Given the description of an element on the screen output the (x, y) to click on. 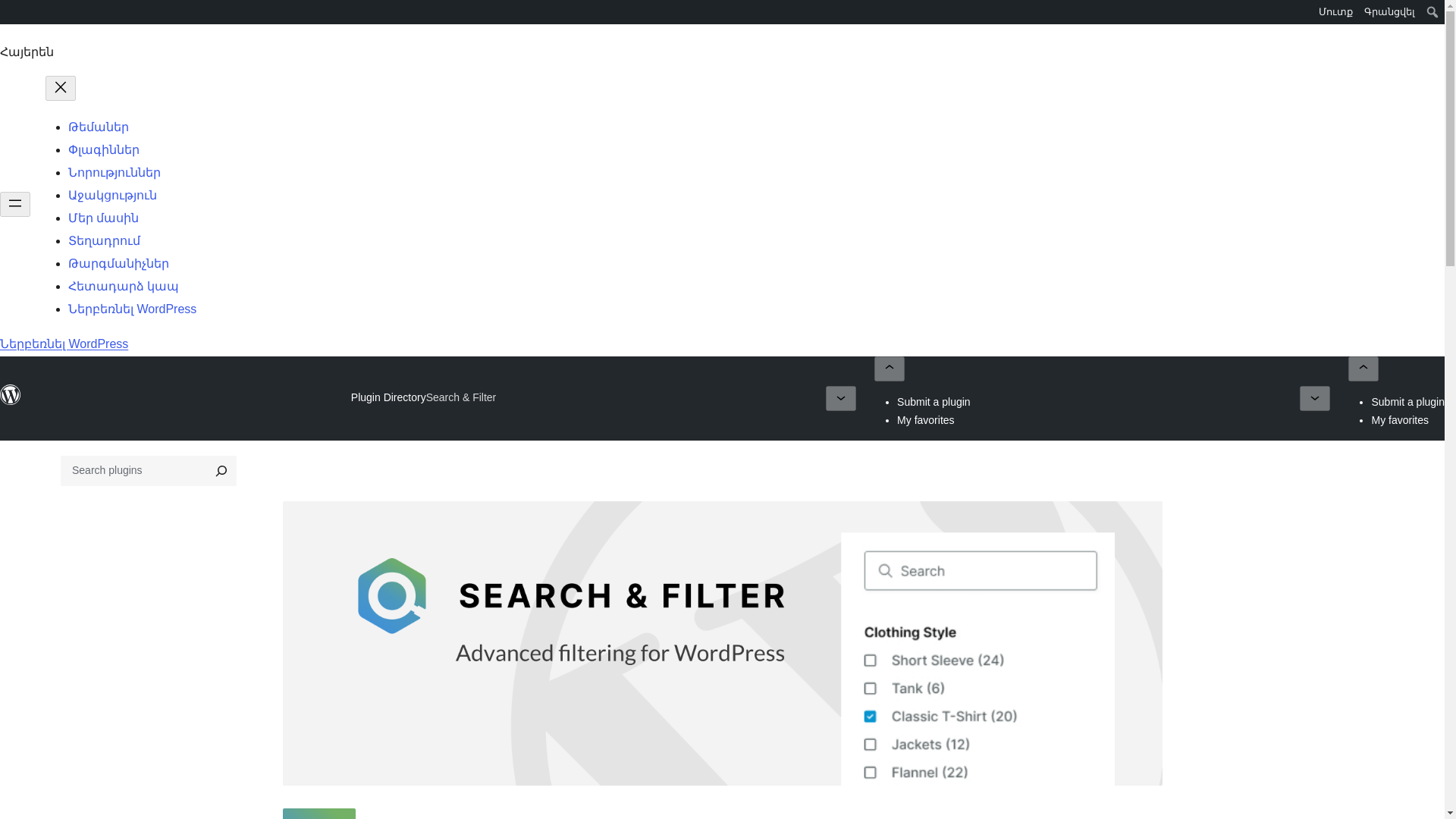
WordPress.org (10, 401)
Plugin Directory (388, 397)
WordPress.org (10, 394)
WordPress.org (10, 16)
My favorites (1399, 419)
Submit a plugin (933, 401)
My favorites (924, 419)
WordPress.org (10, 10)
